Given the description of an element on the screen output the (x, y) to click on. 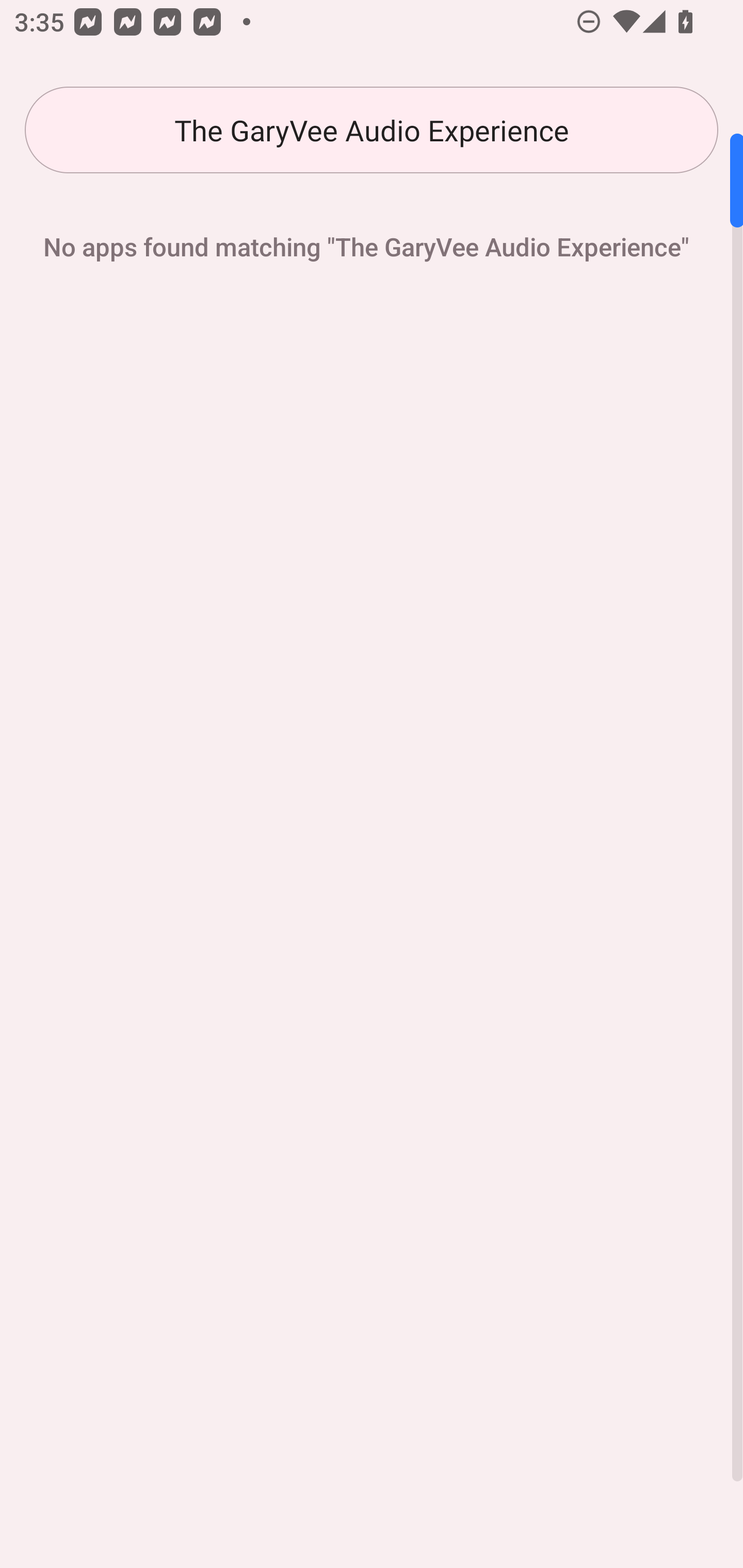
The GaryVee Audio Experience (371, 130)
